Given the description of an element on the screen output the (x, y) to click on. 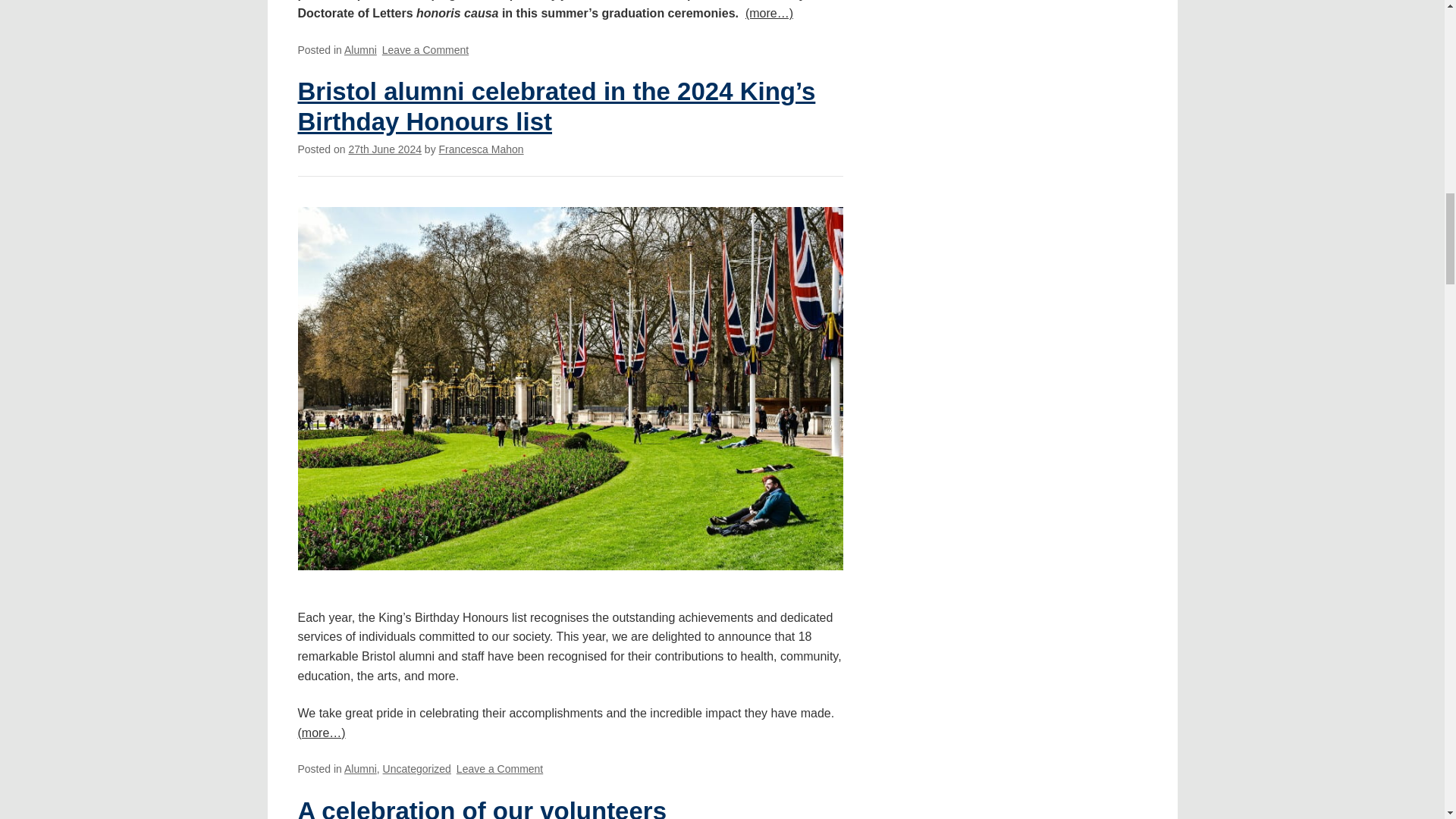
27th June 2024 (384, 149)
Alumni (360, 50)
Subscribe me! (1050, 291)
A celebration of our volunteers (481, 807)
Uncategorized (416, 768)
Alumni (360, 768)
Francesca Mahon (481, 149)
